Given the description of an element on the screen output the (x, y) to click on. 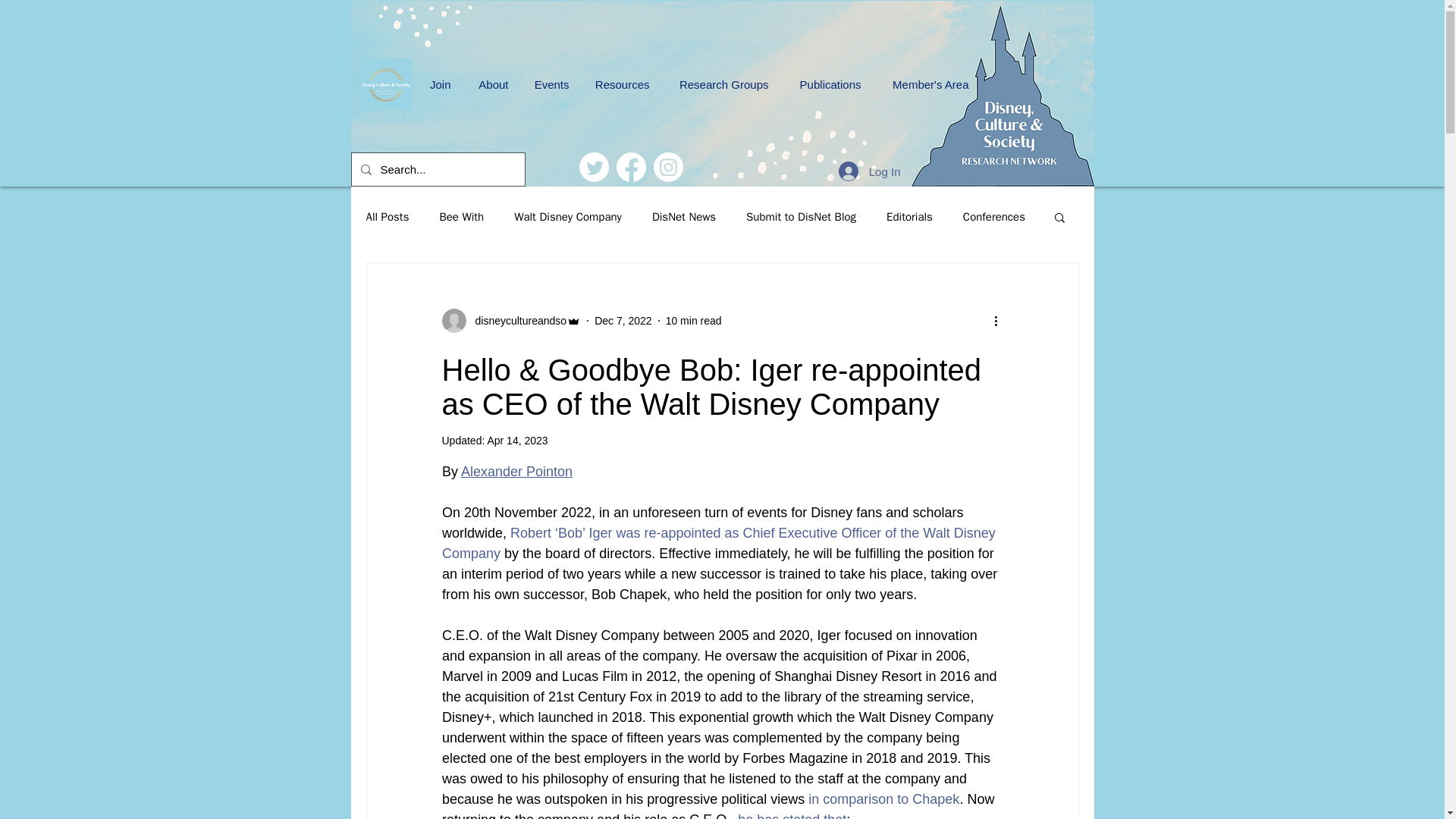
10 min read (693, 319)
disneycultureandso (515, 320)
Research Groups (712, 84)
Join (431, 84)
Apr 14, 2023 (516, 440)
Member's Area (919, 84)
Events (542, 84)
Dec 7, 2022 (623, 319)
